Given the description of an element on the screen output the (x, y) to click on. 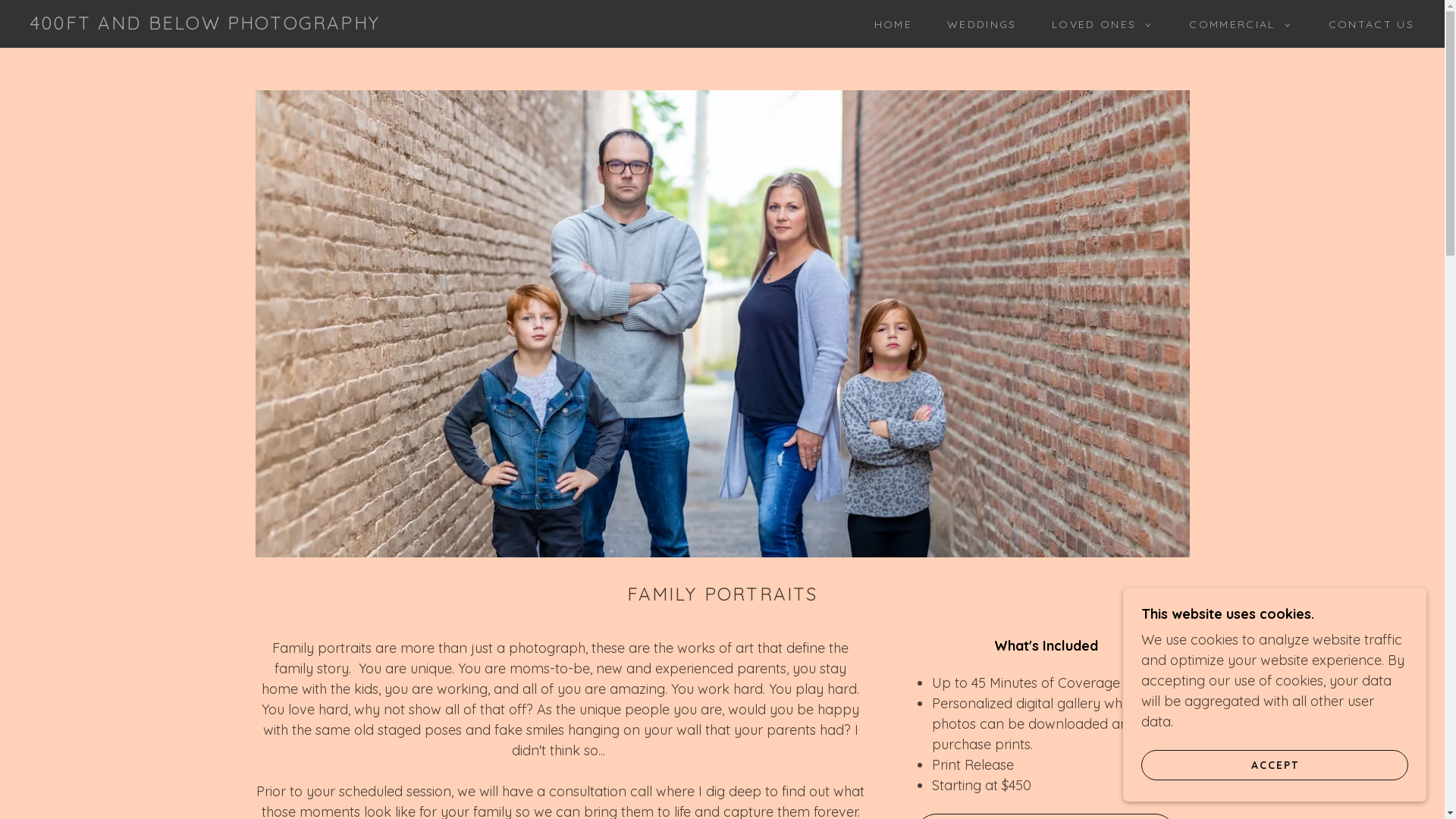
LOVED ONES Element type: text (1097, 24)
WEDDINGS Element type: text (976, 23)
400FT AND BELOW PHOTOGRAPHY Element type: text (204, 24)
HOME Element type: text (887, 23)
COMMERCIAL Element type: text (1235, 24)
ACCEPT Element type: text (1274, 764)
CONTACT US Element type: text (1365, 23)
